Given the description of an element on the screen output the (x, y) to click on. 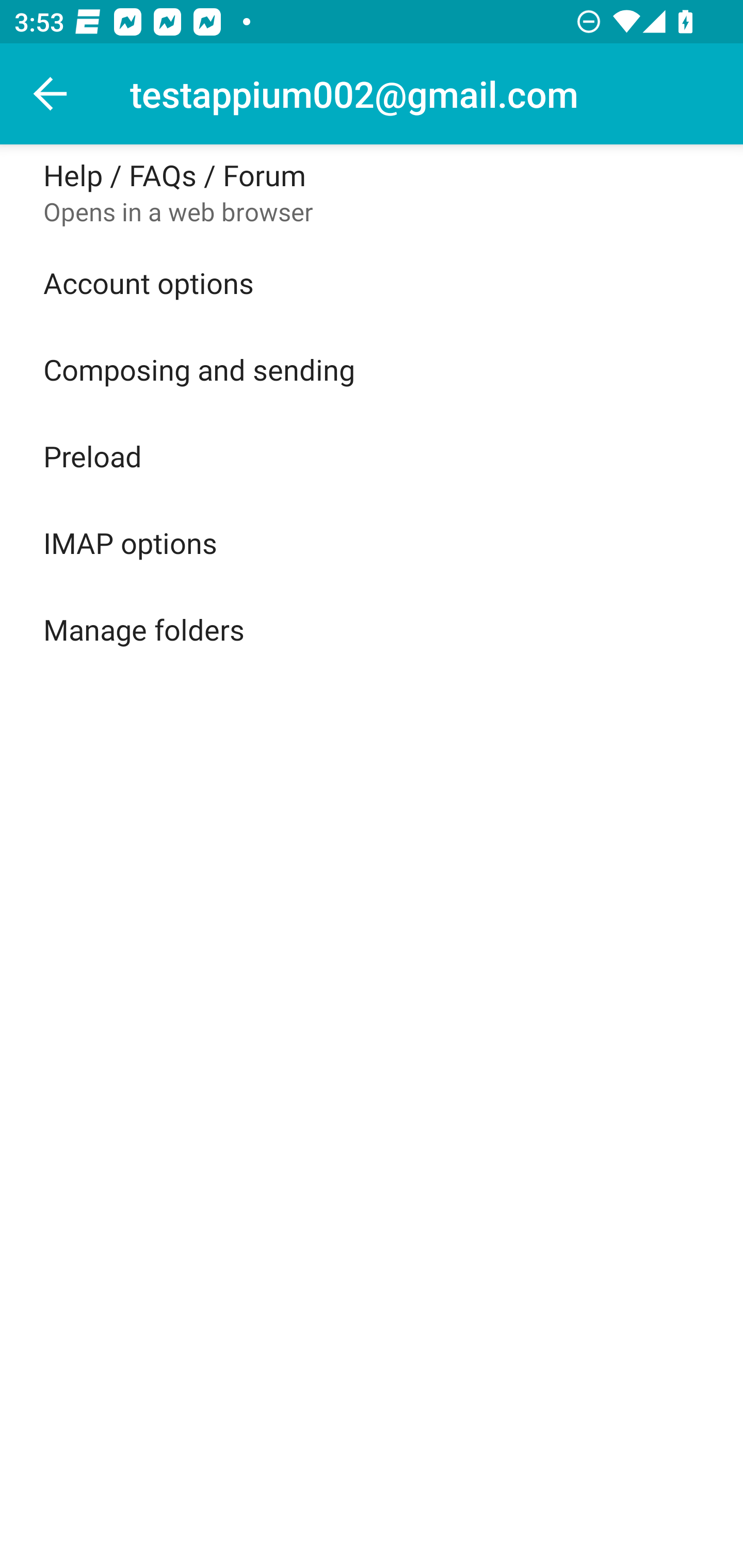
Navigate up (50, 93)
Help / FAQs / Forum Opens in a web browser (371, 191)
Account options (371, 282)
Composing and sending (371, 369)
Preload (371, 455)
IMAP options (371, 542)
Manage folders (371, 629)
